Given the description of an element on the screen output the (x, y) to click on. 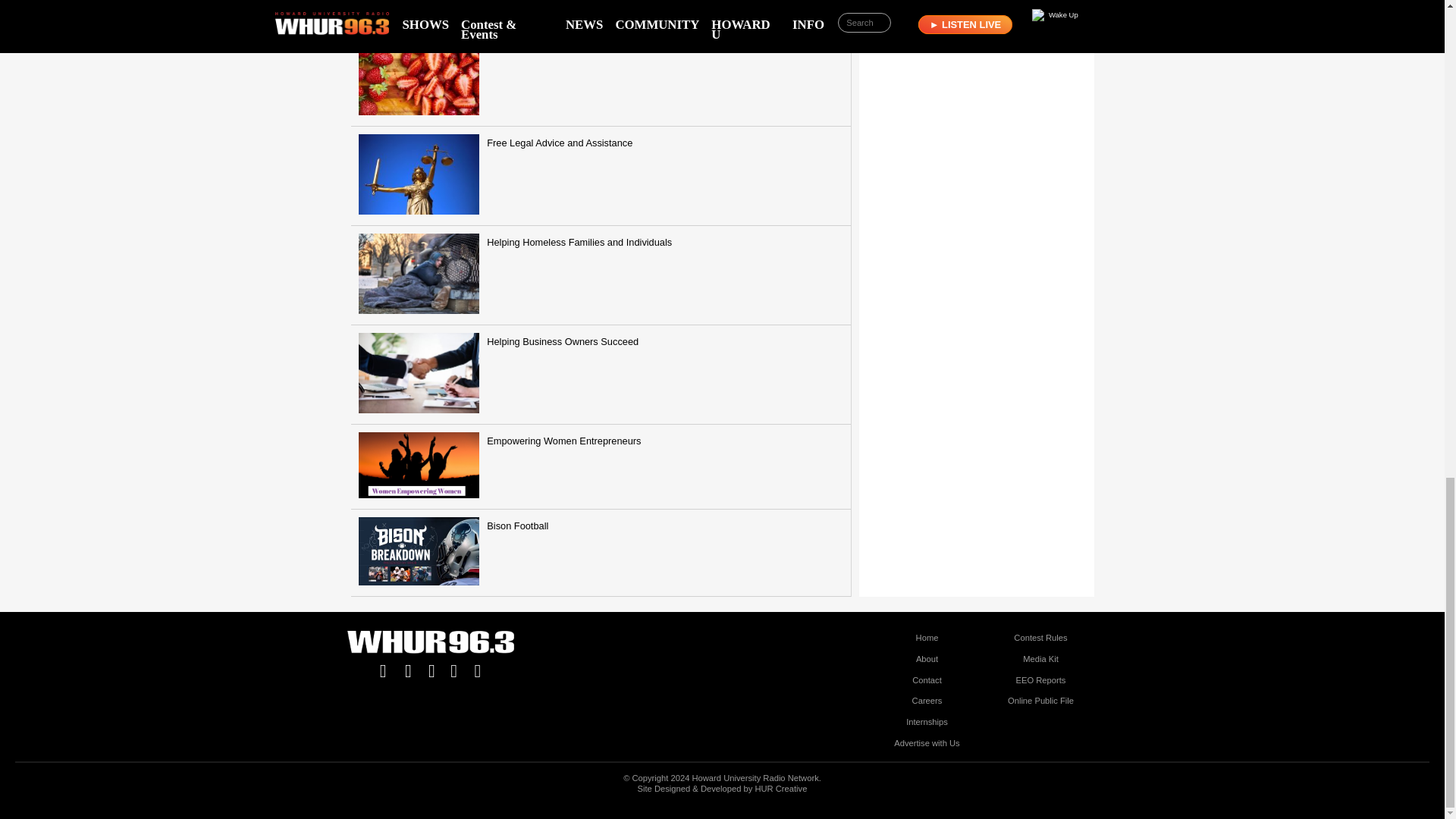
Helping Homeless Families and Individuals (600, 275)
Helping Business Owners Succeed (600, 375)
Party For A Purpose (600, 13)
Bison Football (600, 553)
Free Legal Advice and Assistance (600, 176)
Empowering Women Entrepreneurs (600, 467)
Fun, Food, Family and Strawberries (600, 76)
